Given the description of an element on the screen output the (x, y) to click on. 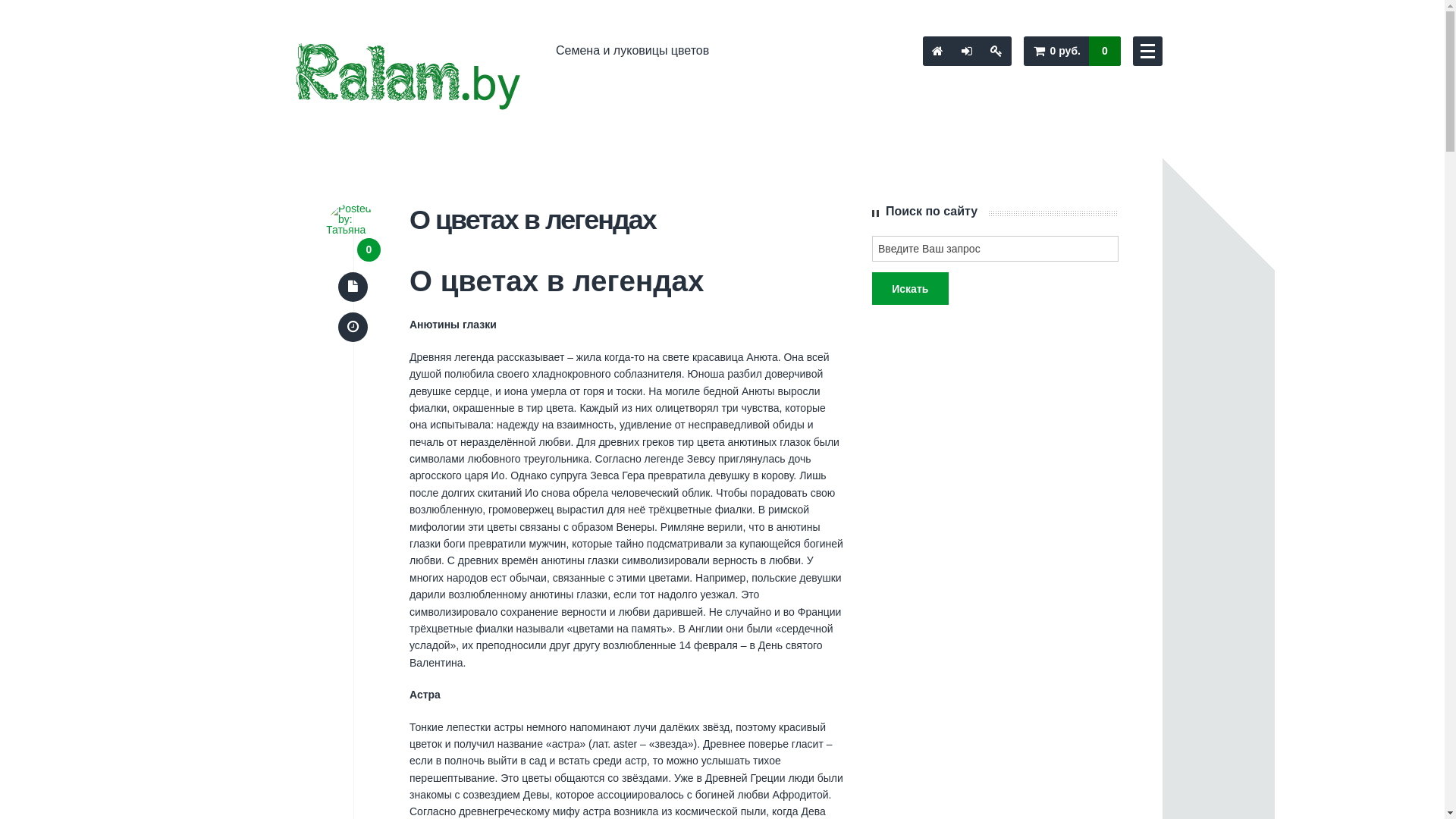
Browse  posts Element type: hover (352, 286)
0 Element type: text (368, 249)
Navigation Element type: hover (1147, 50)
Ralam.by Element type: hover (410, 76)
